Given the description of an element on the screen output the (x, y) to click on. 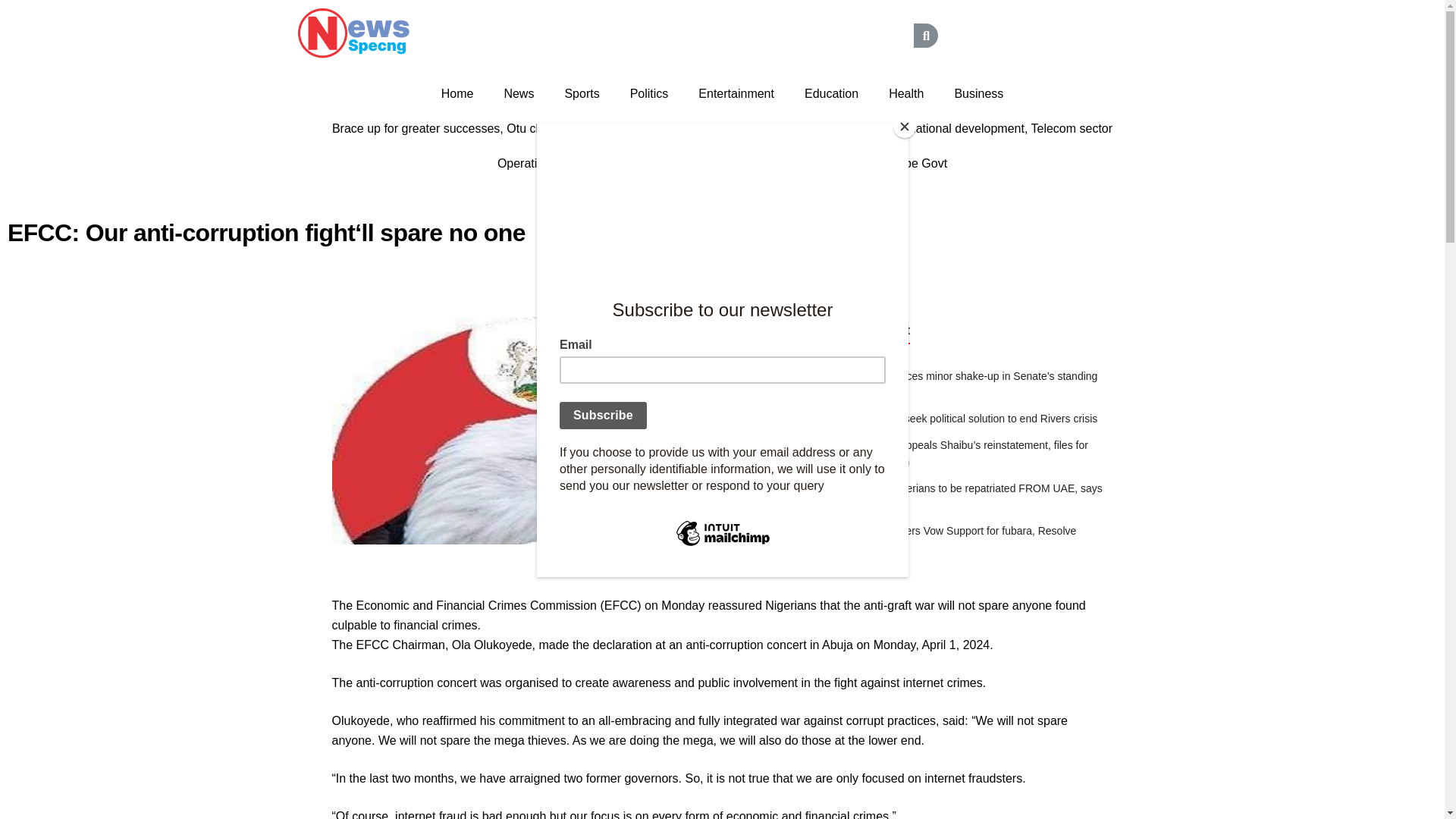
Politics (649, 93)
Search (799, 35)
News (517, 93)
PDP governors seek political solution to end Rivers crisis (963, 418)
Brace up for greater successes, Otu charges commissioners. (496, 128)
Education (831, 93)
Search (925, 35)
Sports (581, 93)
Home (457, 93)
Entertainment (735, 93)
Business (978, 93)
Health (906, 93)
